Given the description of an element on the screen output the (x, y) to click on. 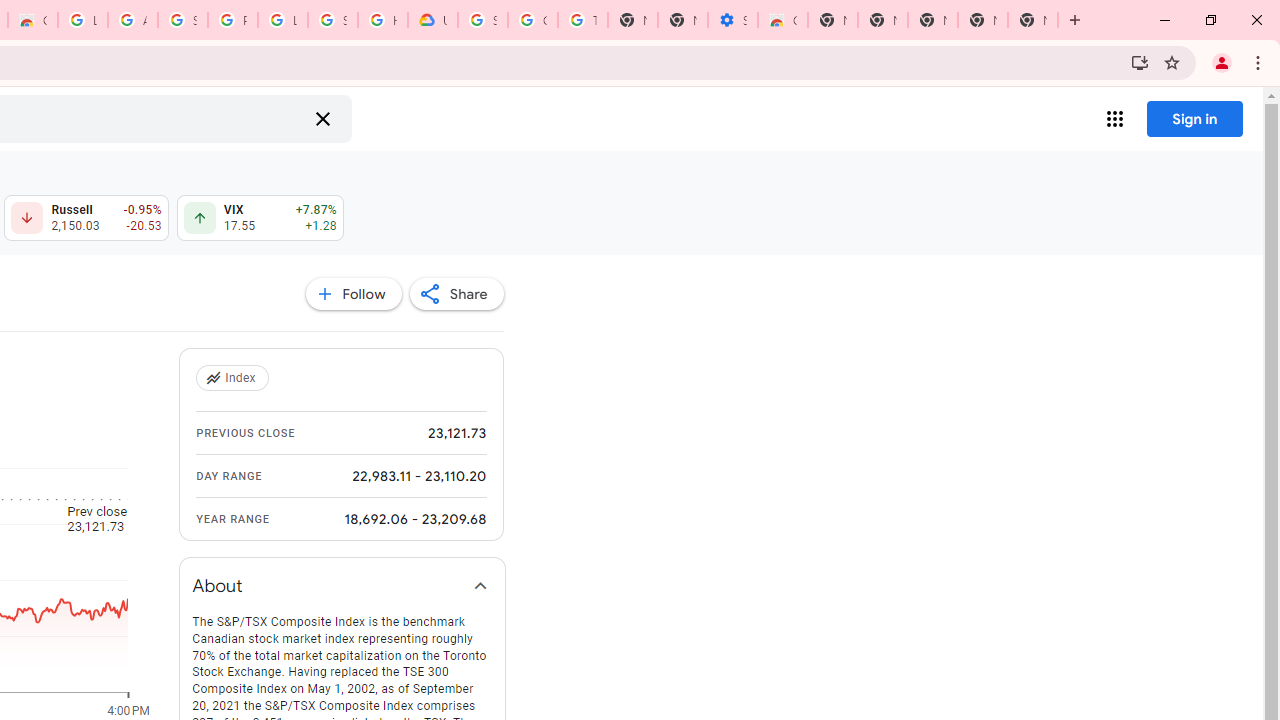
Chrome Web Store - Accessibility extensions (782, 20)
Russell 2,150.03 Down by 0.95% -20.53 (85, 218)
About (342, 586)
Settings - Accessibility (732, 20)
Turn cookies on or off - Computer - Google Account Help (582, 20)
Follow (353, 293)
